Given the description of an element on the screen output the (x, y) to click on. 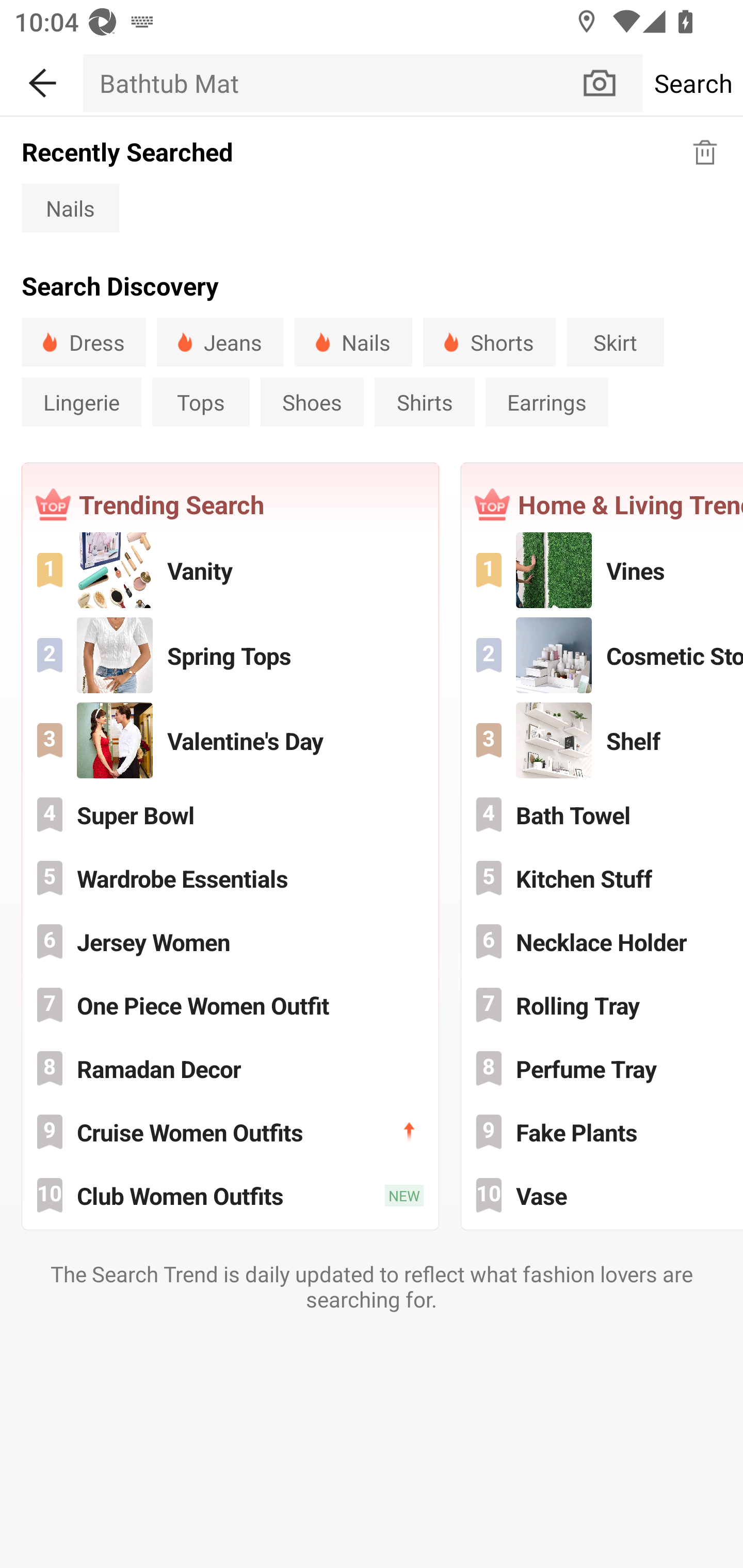
BACK (41, 79)
Bathtub Mat (331, 82)
Search (692, 82)
Recently Searched Nails Nails (371, 183)
Nails (69, 207)
Dress (83, 342)
Jeans (219, 342)
Nails (353, 342)
Shorts (488, 342)
Skirt (615, 342)
Lingerie (81, 401)
Tops (200, 401)
Shoes (312, 401)
Shirts (424, 401)
Earrings (546, 401)
Vanity 1 Vanity (230, 569)
Vines 1 Vines (602, 569)
Spring Tops 2 Spring Tops (230, 655)
Cosmetic Storage 2 Cosmetic Storage (602, 655)
Valentine's Day 3 Valentine's Day (230, 739)
Shelf 3 Shelf (602, 739)
Super Bowl 4 Super Bowl (230, 814)
Bath Towel 4 Bath Towel (602, 814)
Wardrobe Essentials 5 Wardrobe Essentials (230, 877)
Kitchen Stuff 5 Kitchen Stuff (602, 877)
Jersey Women 6 Jersey Women (230, 941)
Necklace Holder 6 Necklace Holder (602, 941)
One Piece Women Outfit 7 One Piece Women Outfit (230, 1004)
Rolling Tray 7 Rolling Tray (602, 1004)
Ramadan Decor 8 Ramadan Decor (230, 1068)
Perfume Tray 8 Perfume Tray (602, 1068)
Cruise Women Outfits 9 Cruise Women Outfits (230, 1131)
Fake Plants 9 Fake Plants (602, 1131)
Club Women Outfits 10 Club Women Outfits NEW (230, 1195)
Vase 10 Vase (602, 1195)
